Given the description of an element on the screen output the (x, y) to click on. 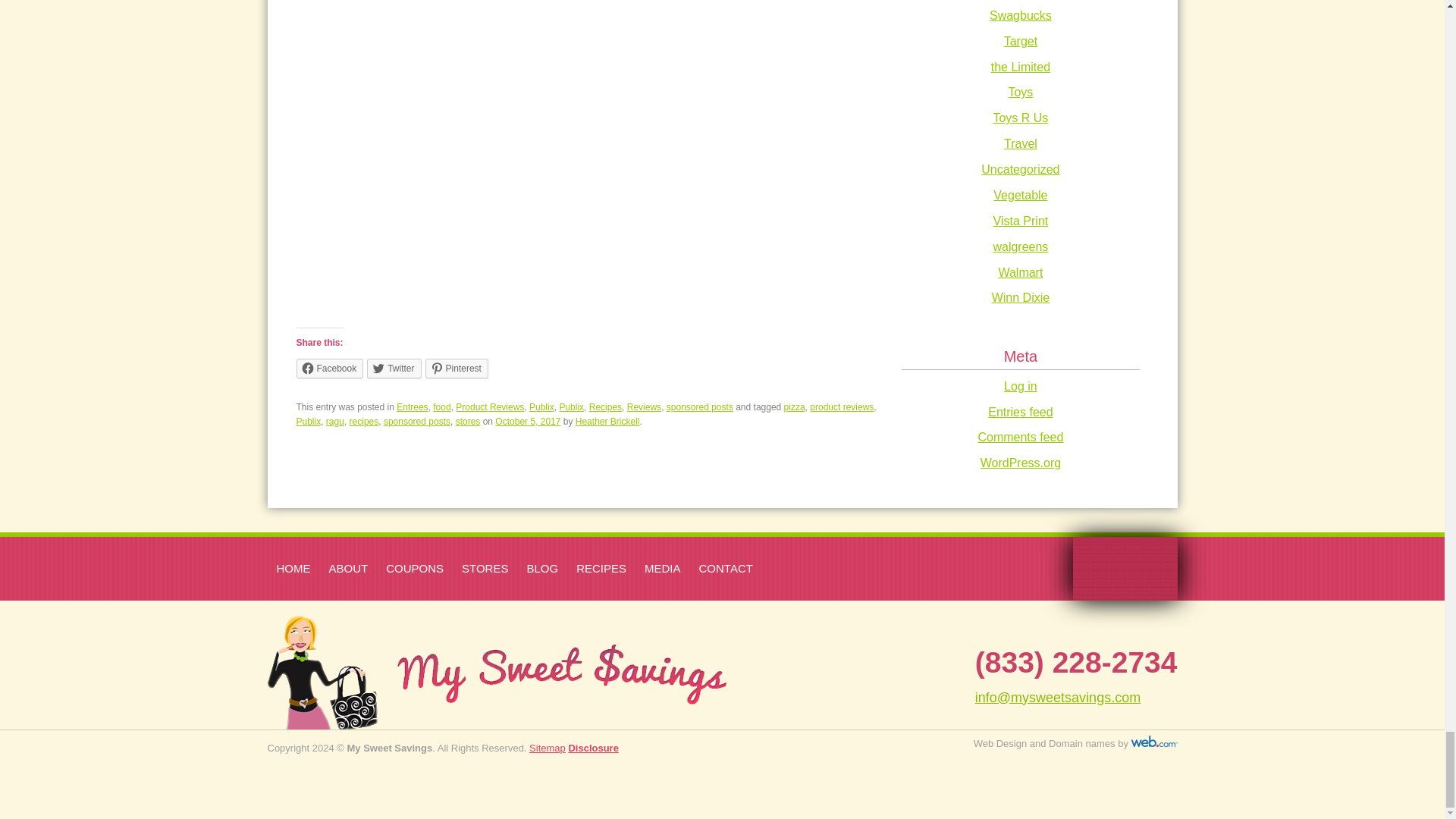
Click to share on Facebook (328, 368)
Click to share on Twitter (393, 368)
9:15 am (527, 421)
Click to share on Pinterest (456, 368)
